Given the description of an element on the screen output the (x, y) to click on. 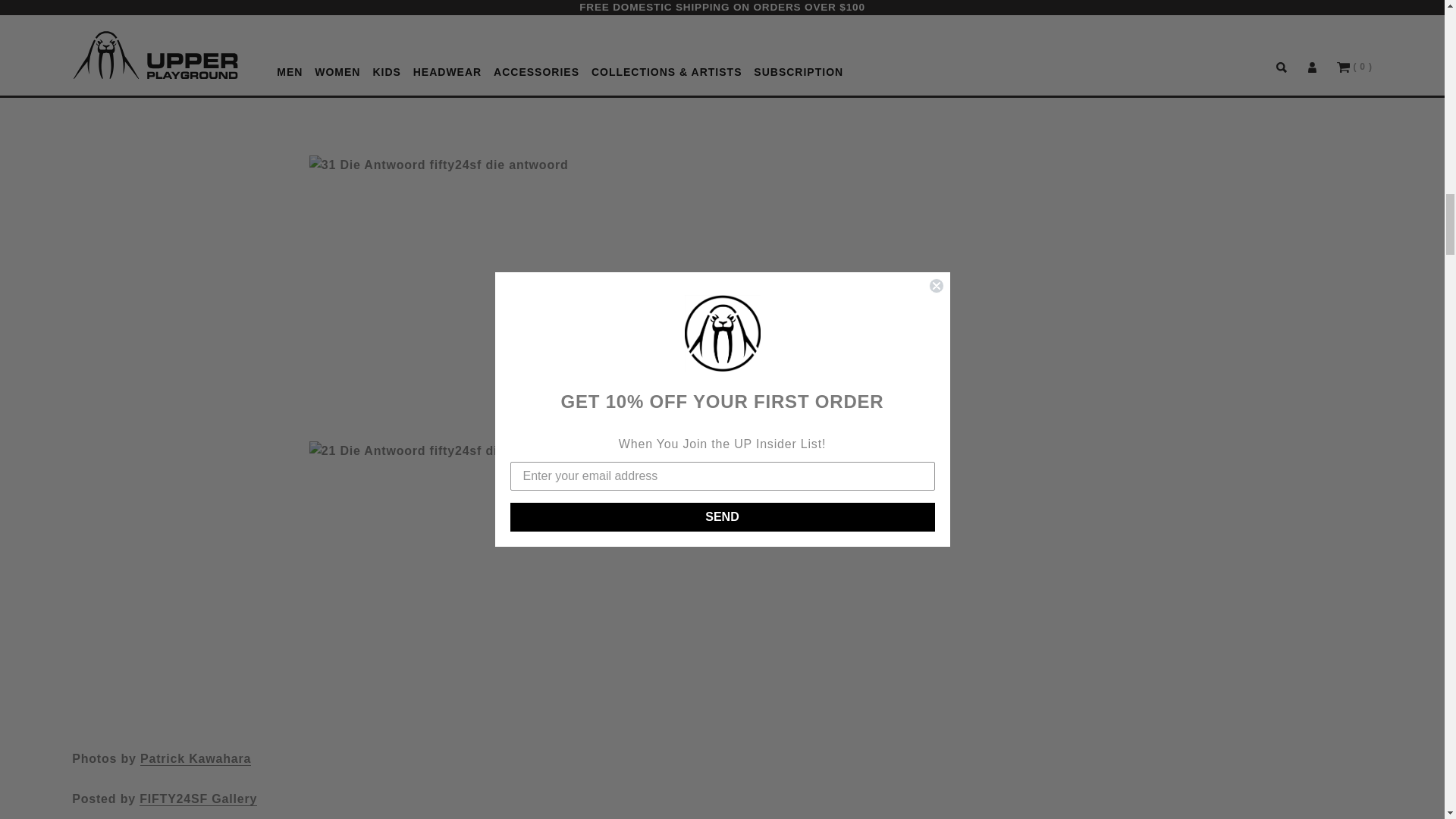
31 (504, 285)
21 (504, 582)
13 (504, 65)
